Given the description of an element on the screen output the (x, y) to click on. 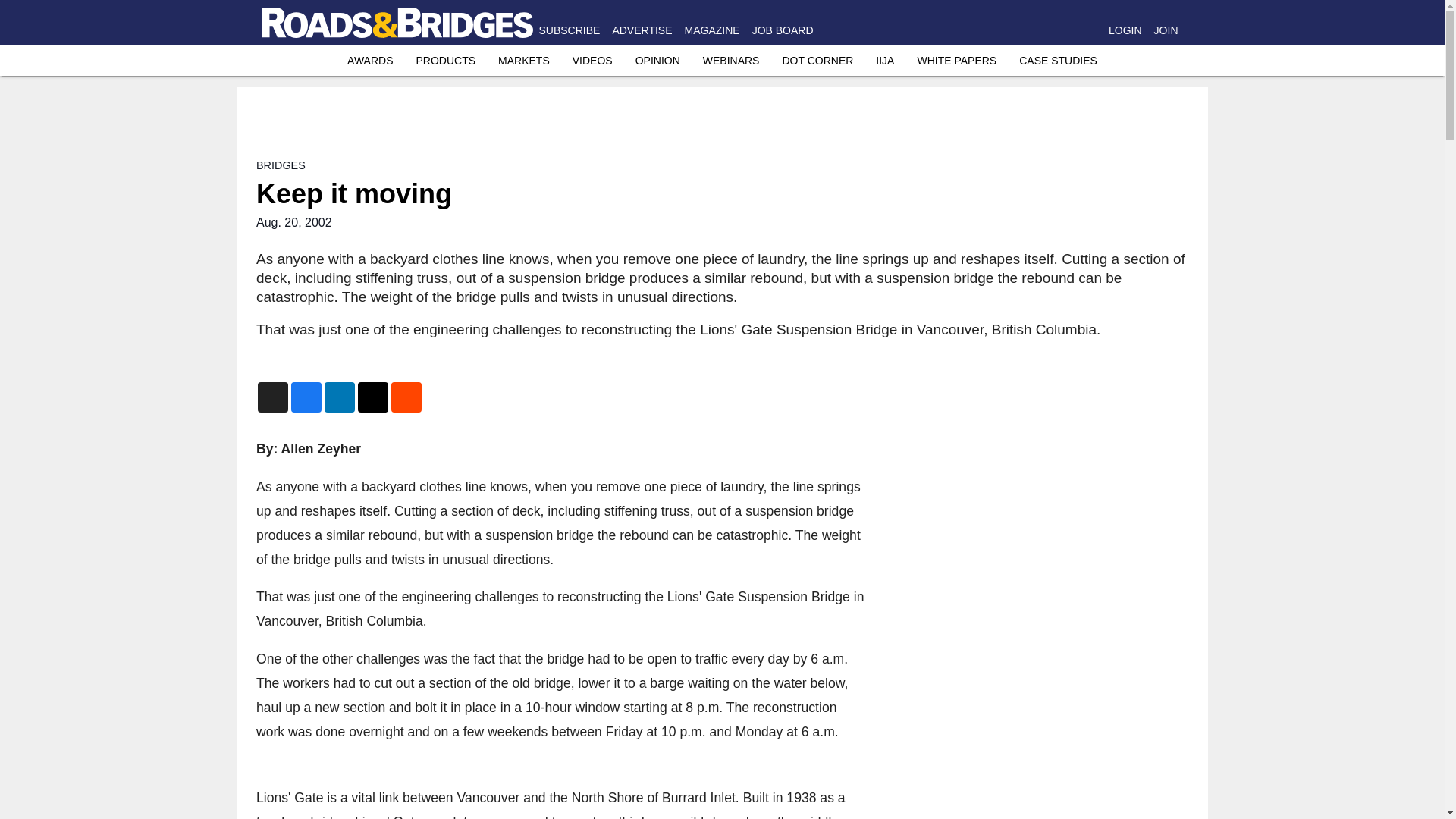
WEBINARS (731, 60)
MAGAZINE (711, 30)
DOT CORNER (817, 60)
LOGIN (1124, 30)
PRODUCTS (445, 60)
JOB BOARD (782, 30)
AWARDS (370, 60)
CASE STUDIES (1058, 60)
OPINION (656, 60)
ADVERTISE (641, 30)
